Given the description of an element on the screen output the (x, y) to click on. 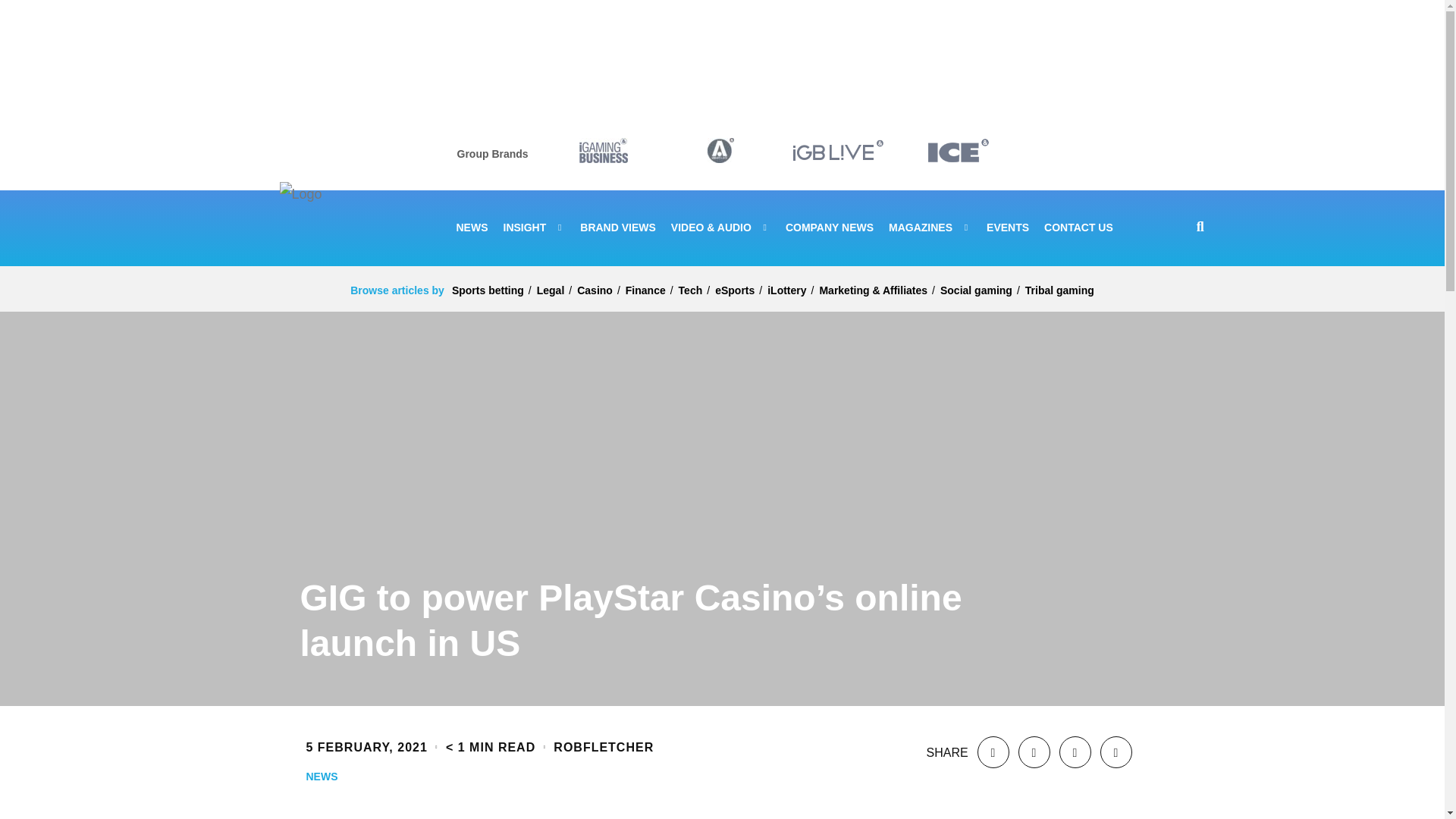
CONTACT US (1078, 227)
Tech (690, 290)
Legal (550, 290)
COMPANY NEWS (829, 227)
NEWS (472, 227)
MAGAZINES (929, 227)
iLottery (786, 290)
Social gaming (975, 290)
Tribal gaming (1059, 290)
eSports (734, 290)
